Given the description of an element on the screen output the (x, y) to click on. 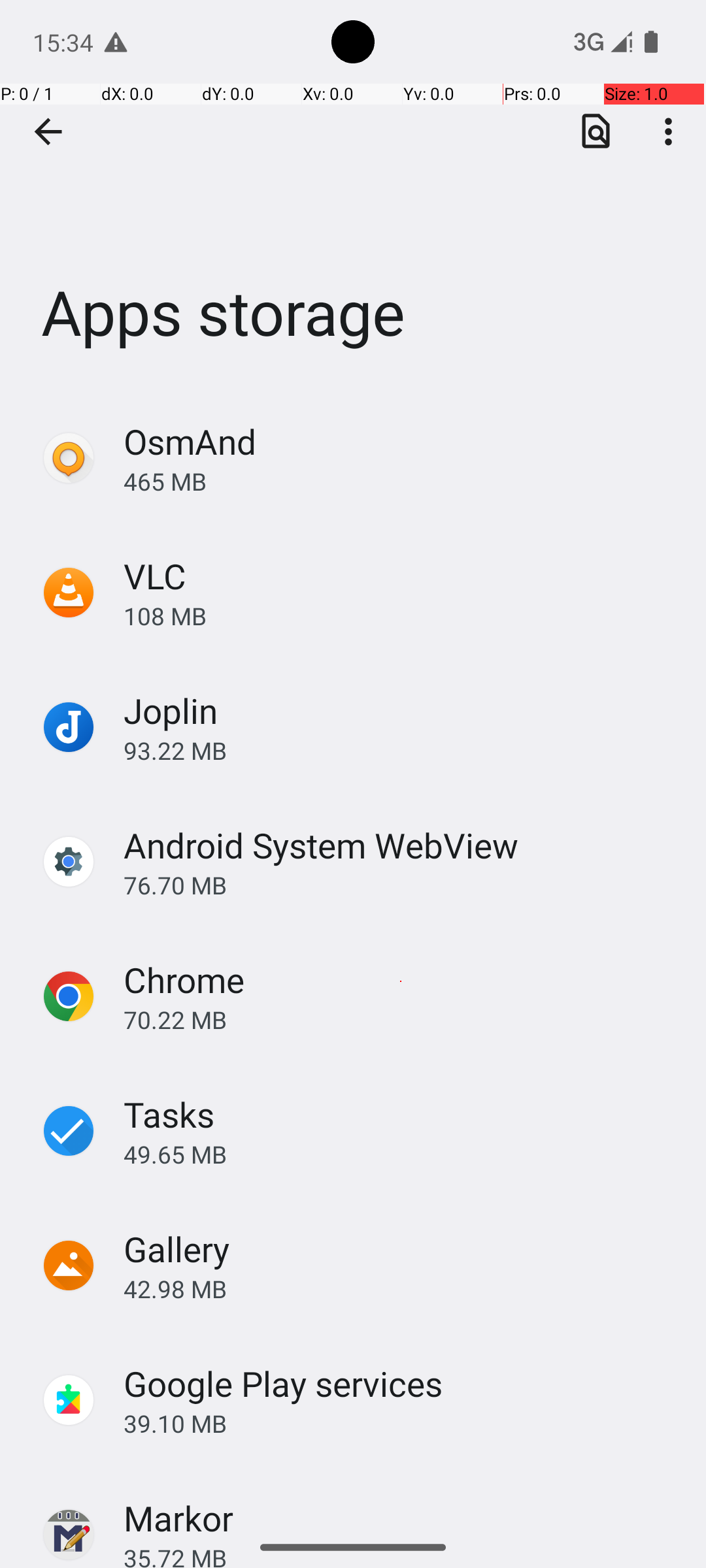
Apps storage Element type: android.widget.FrameLayout (353, 195)
OsmAnd Element type: android.widget.TextView (189, 441)
465 MB Element type: android.widget.TextView (400, 480)
108 MB Element type: android.widget.TextView (400, 615)
93.22 MB Element type: android.widget.TextView (400, 750)
Android System WebView Element type: android.widget.TextView (320, 844)
76.70 MB Element type: android.widget.TextView (400, 884)
70.22 MB Element type: android.widget.TextView (400, 1019)
49.65 MB Element type: android.widget.TextView (400, 1153)
42.98 MB Element type: android.widget.TextView (400, 1288)
Google Play services Element type: android.widget.TextView (283, 1383)
39.10 MB Element type: android.widget.TextView (400, 1422)
